Given the description of an element on the screen output the (x, y) to click on. 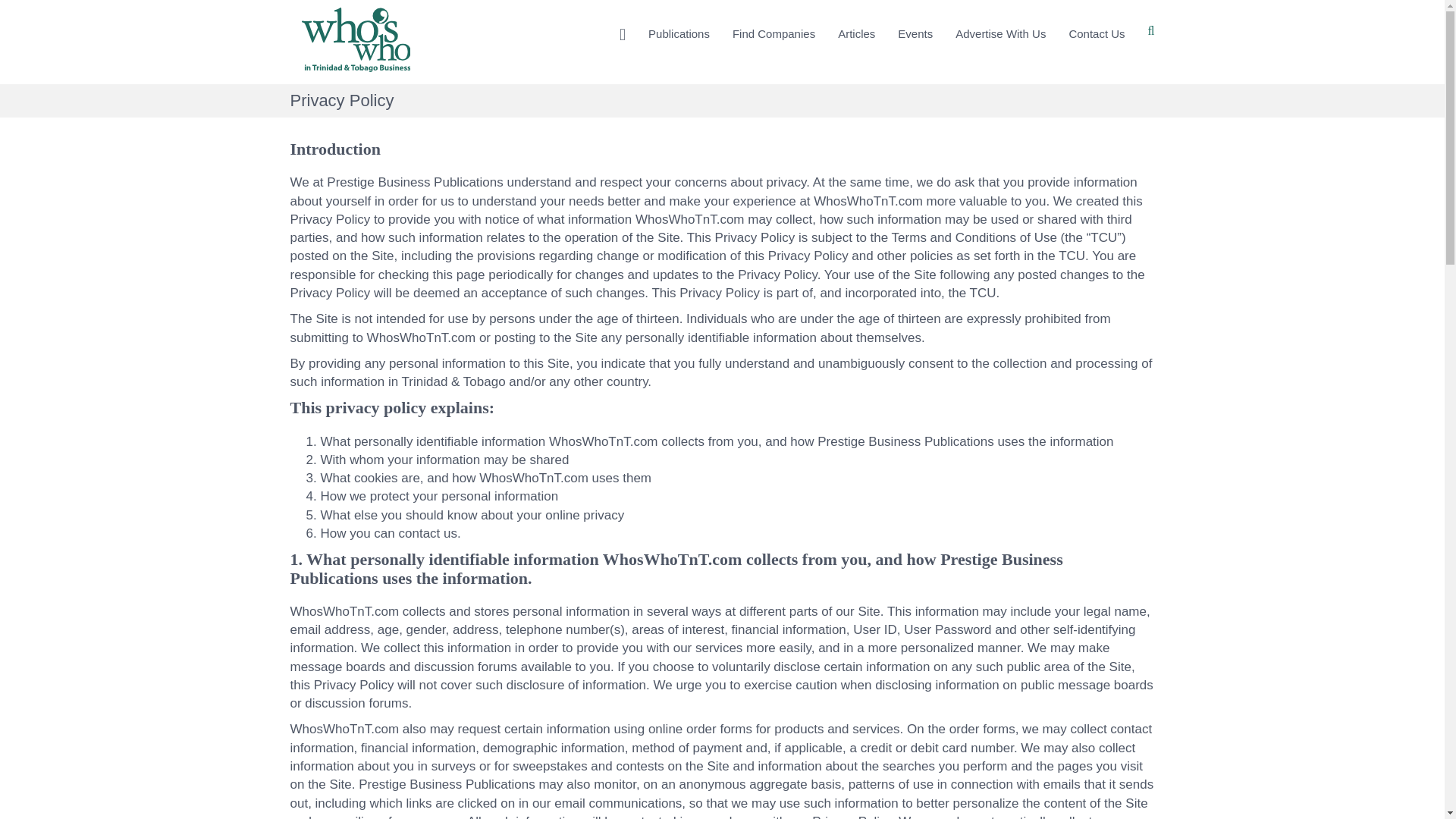
Contact Us (1096, 34)
Articles (856, 34)
Publications (678, 34)
Advertise With Us (1000, 34)
Find Companies (773, 34)
Events (914, 34)
